Given the description of an element on the screen output the (x, y) to click on. 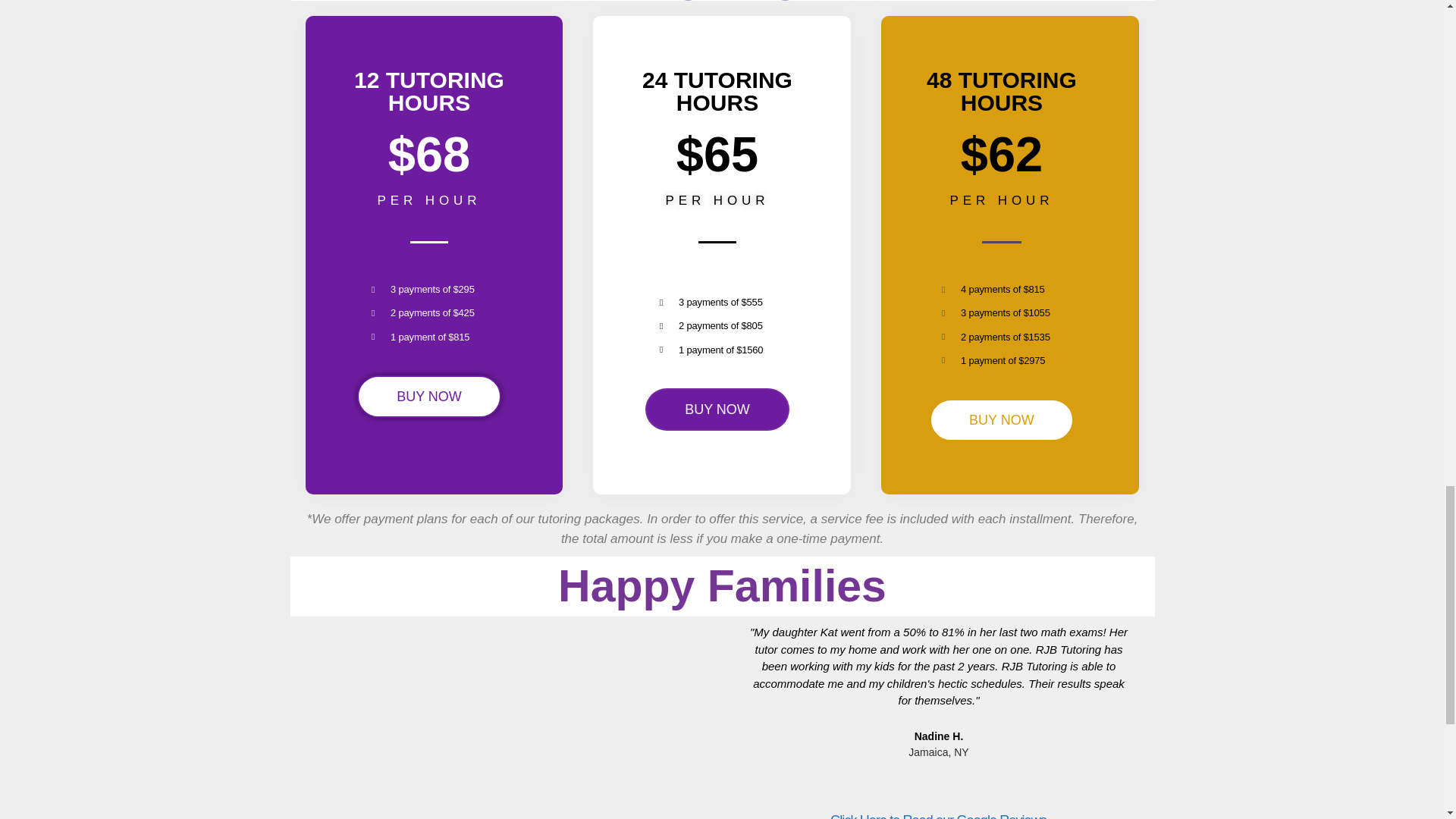
BUY NOW (428, 396)
BUY NOW (717, 409)
Click Here to Read our Google Reviews (937, 816)
BUY NOW (1002, 419)
